Given the description of an element on the screen output the (x, y) to click on. 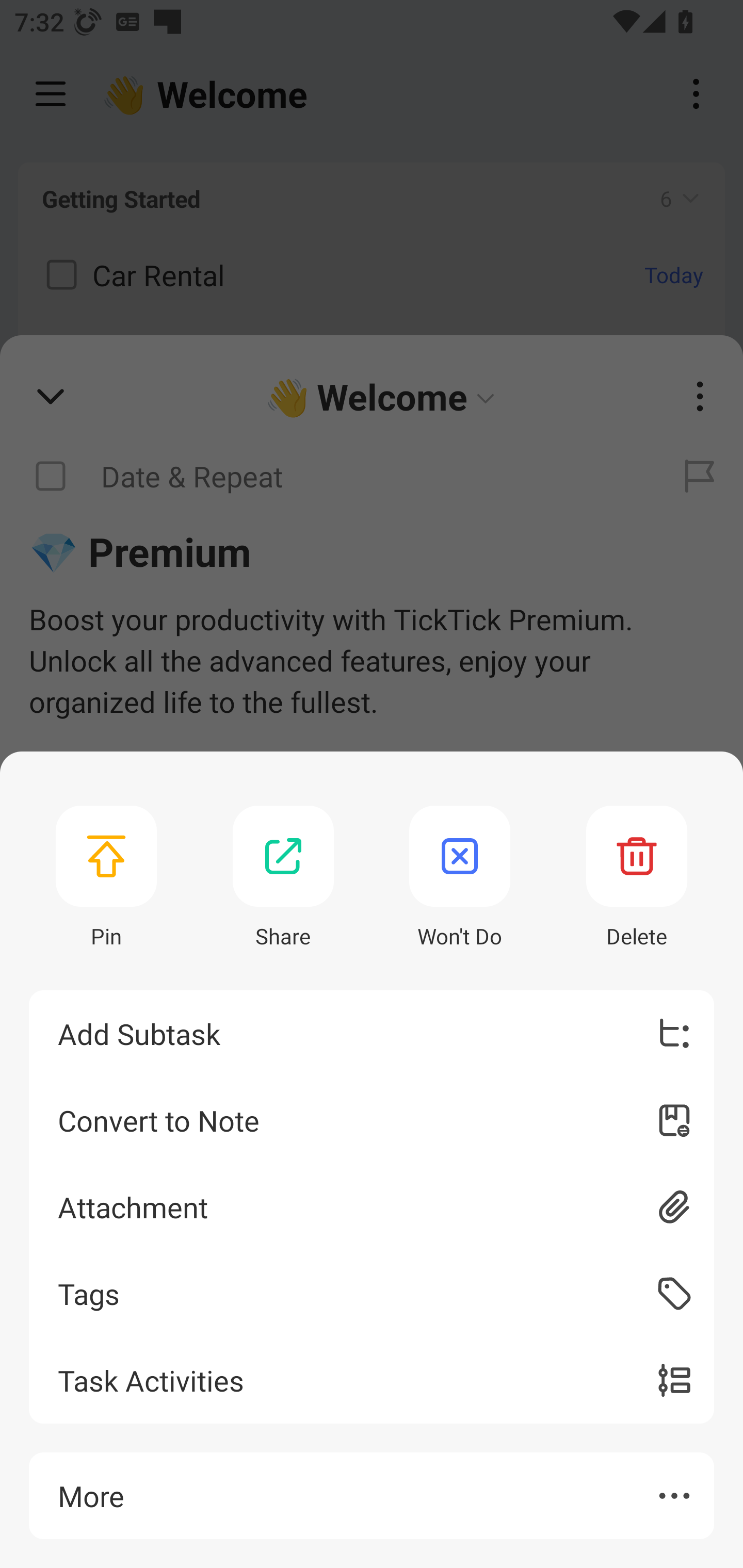
Pin (105, 877)
Share (282, 877)
Won't Do (459, 877)
Delete (636, 877)
Add Subtask (371, 1033)
Convert to Note (371, 1120)
Attachment (371, 1206)
Tags (371, 1293)
Task Activities (371, 1380)
More (371, 1495)
